Given the description of an element on the screen output the (x, y) to click on. 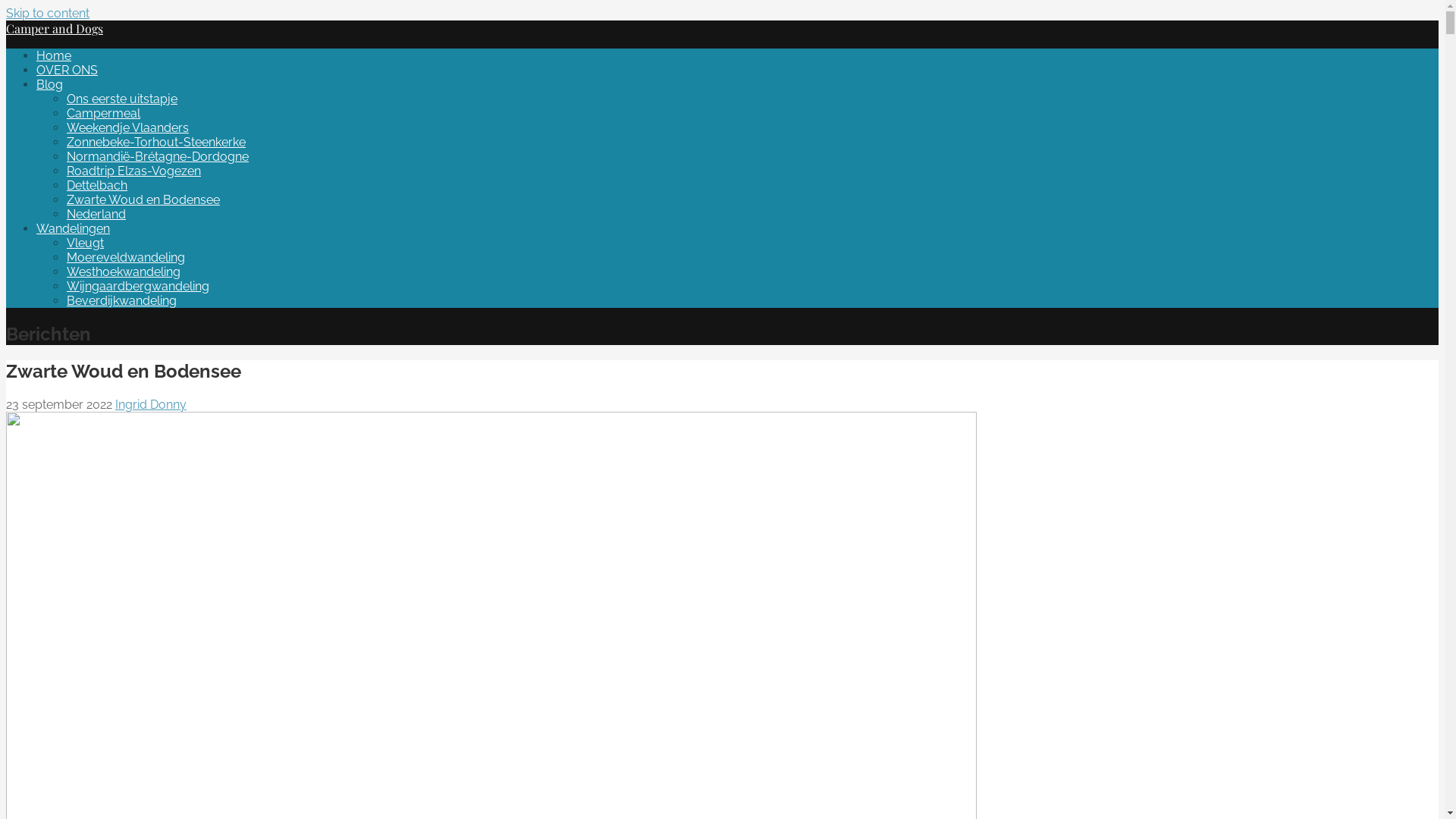
Ingrid Donny Element type: text (150, 404)
Beverdijkwandeling Element type: text (121, 300)
Skip to content Element type: text (47, 13)
OVER ONS Element type: text (66, 69)
Dettelbach Element type: text (96, 185)
Wijngaardbergwandeling Element type: text (137, 286)
Weekendje Vlaanders Element type: text (127, 127)
Camper and Dogs Element type: text (54, 28)
Moereveldwandeling Element type: text (125, 257)
Vleugt Element type: text (84, 242)
Zwarte Woud en Bodensee Element type: text (142, 199)
Campermeal Element type: text (103, 113)
Westhoekwandeling Element type: text (123, 271)
Nederland Element type: text (95, 214)
Zonnebeke-Torhout-Steenkerke Element type: text (155, 141)
Home Element type: text (53, 55)
Blog Element type: text (49, 84)
Wandelingen Element type: text (72, 228)
Roadtrip Elzas-Vogezen Element type: text (133, 170)
Ons eerste uitstapje Element type: text (121, 98)
